Given the description of an element on the screen output the (x, y) to click on. 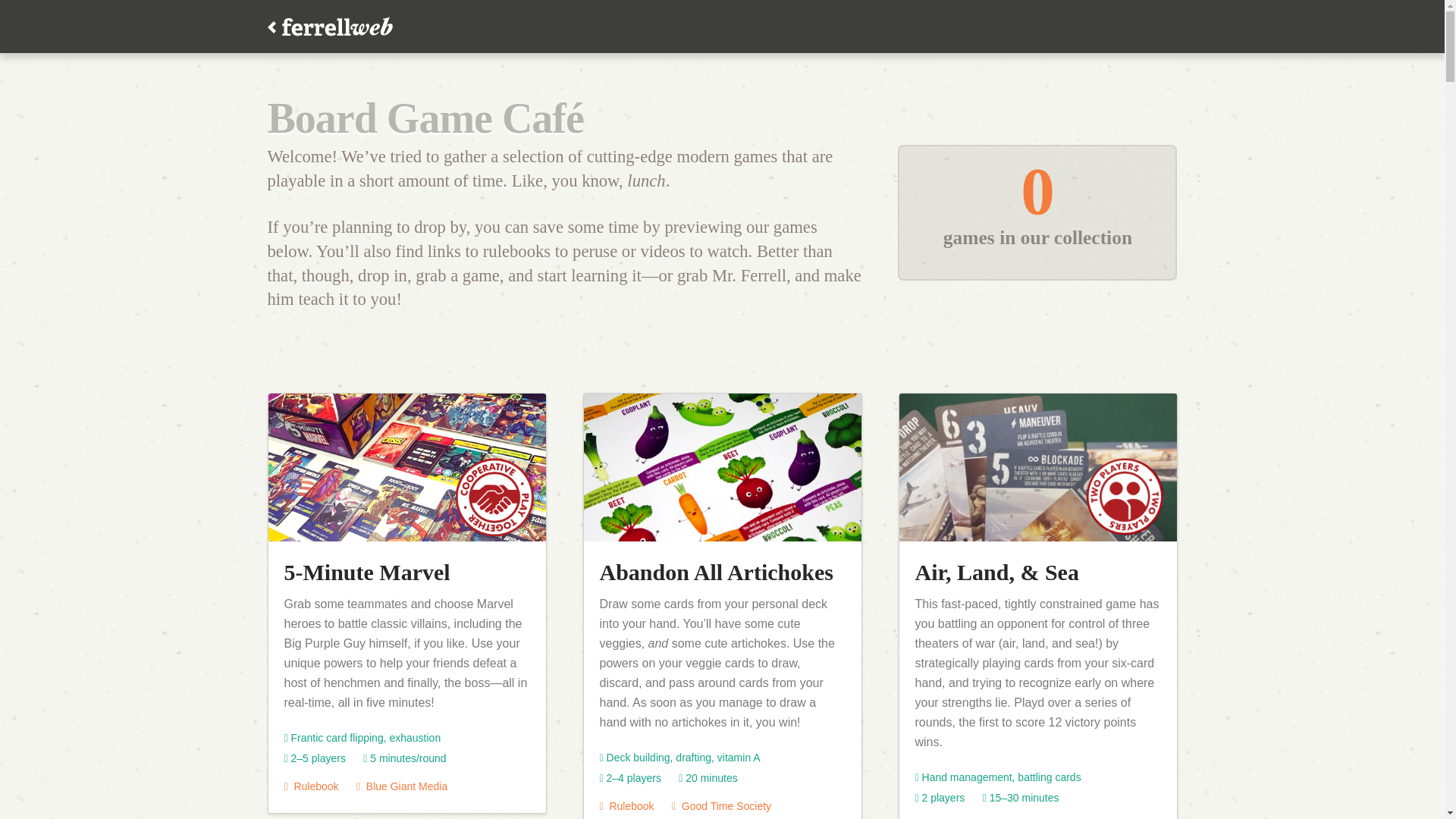
  Blue Giant Media (401, 786)
  Good Time Society (721, 806)
Abandon All Artichokes (715, 571)
  Rulebook (625, 806)
  Rulebook (310, 786)
